Given the description of an element on the screen output the (x, y) to click on. 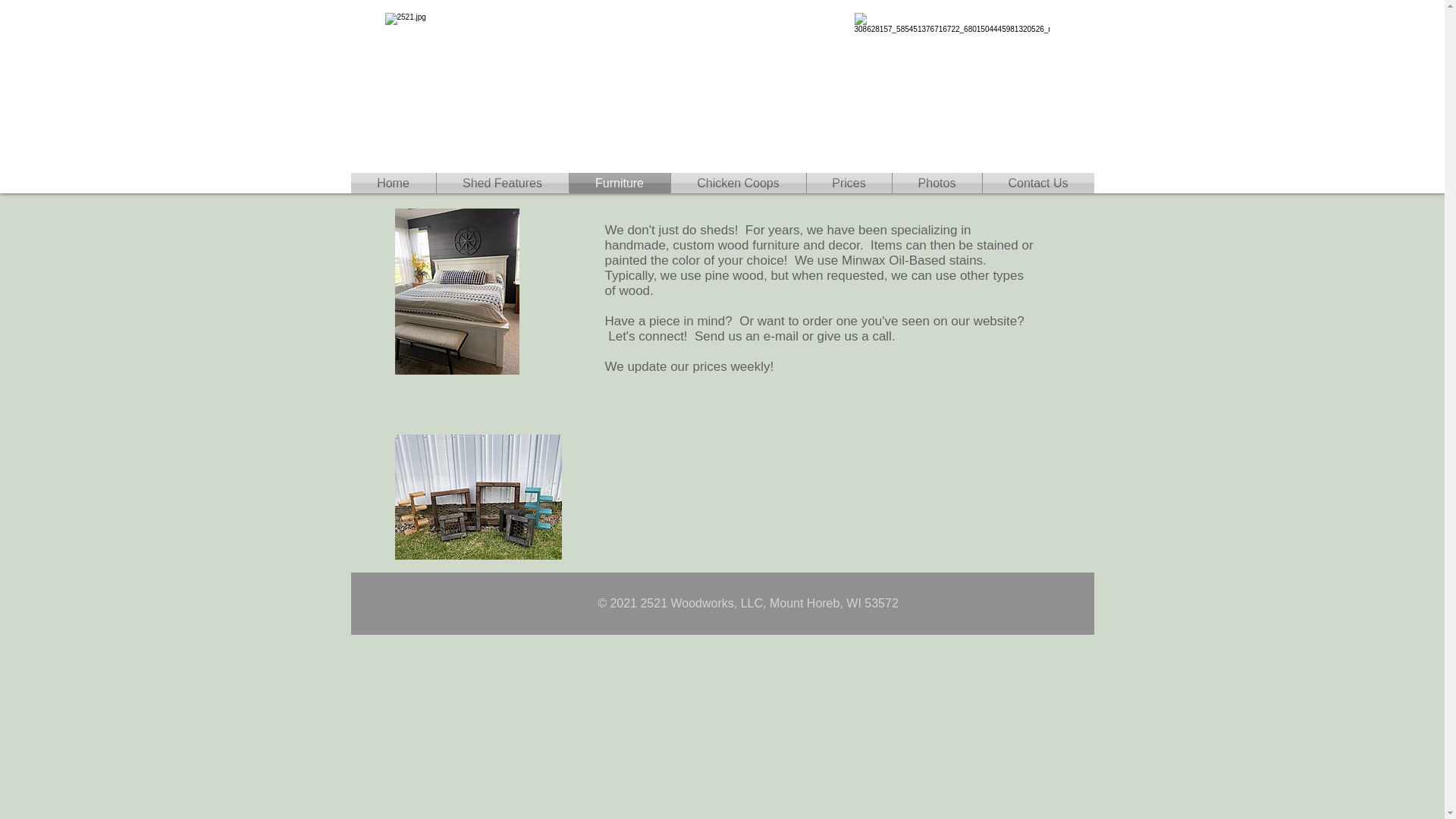
Prices Element type: text (848, 182)
Home Element type: text (392, 182)
Chicken Coops Element type: text (737, 182)
Contact Us Element type: text (1038, 182)
Furniture Element type: text (618, 182)
Shed Features Element type: text (502, 182)
Photos Element type: text (936, 182)
